Given the description of an element on the screen output the (x, y) to click on. 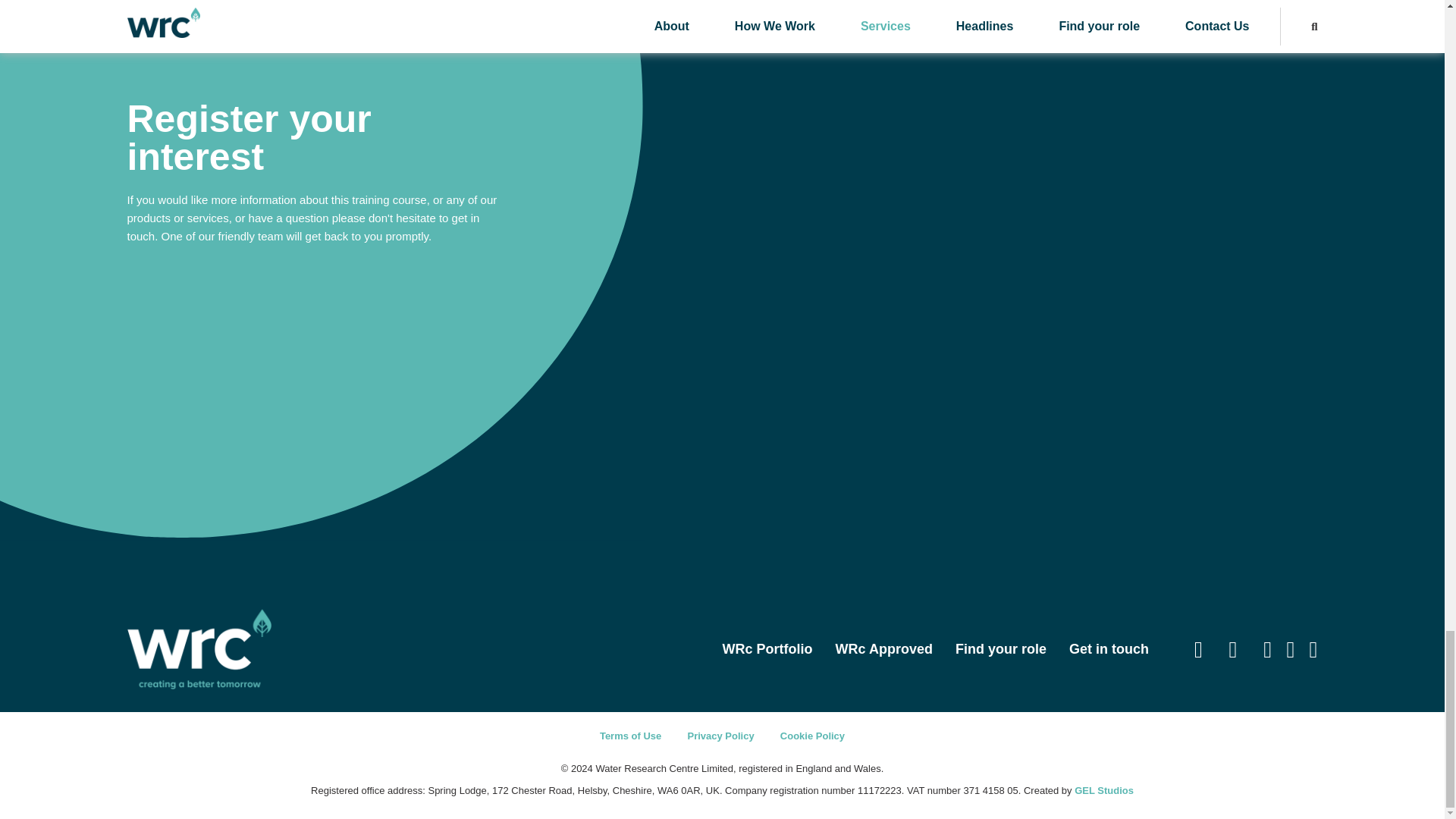
WRc Portfolio (767, 648)
Find your role (1000, 648)
WRc Approved (884, 648)
Terms of Use (630, 736)
Get in touch (1108, 648)
